Given the description of an element on the screen output the (x, y) to click on. 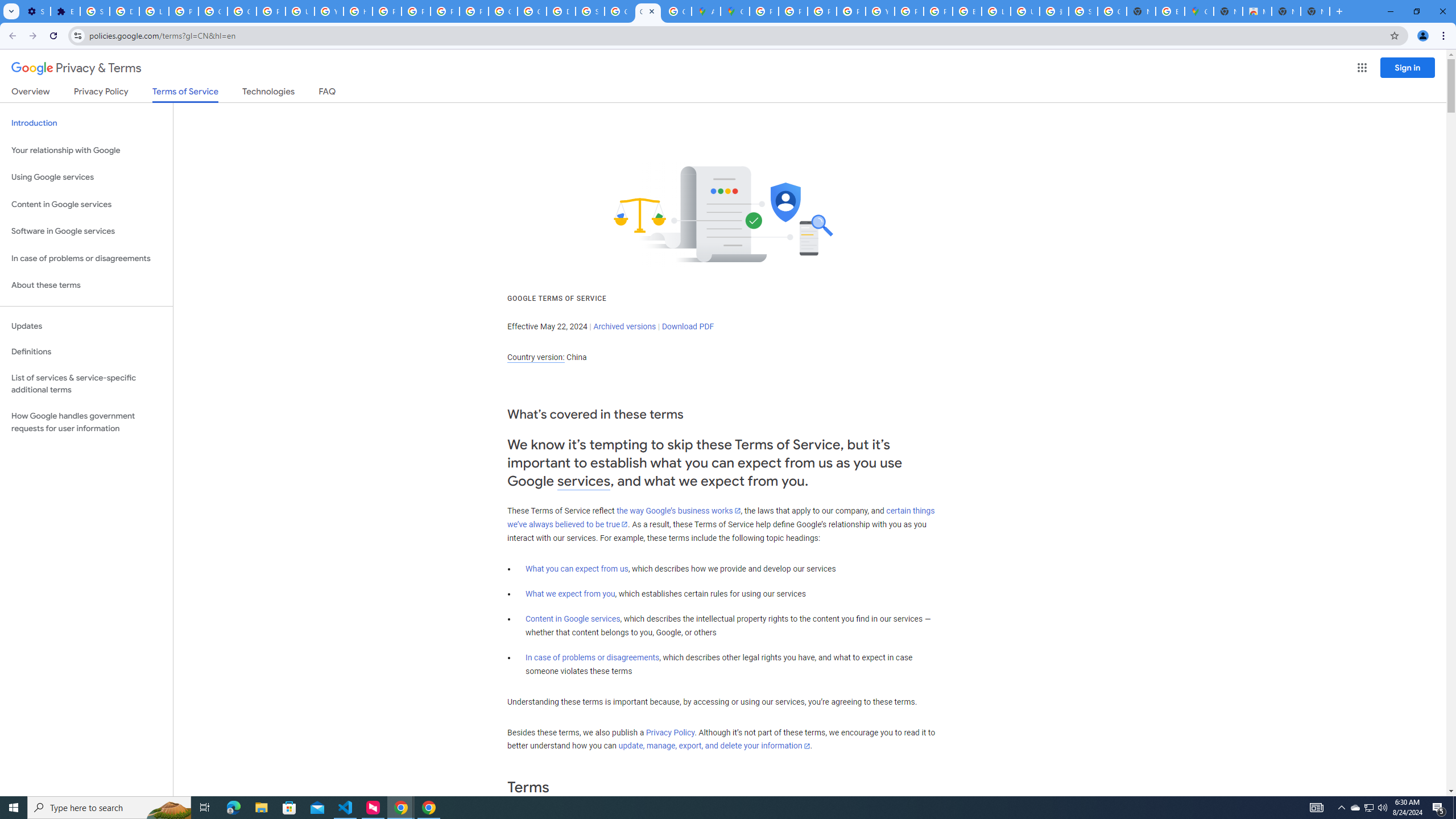
YouTube (879, 11)
YouTube (327, 11)
Privacy Help Center - Policies Help (821, 11)
update, manage, export, and delete your information (714, 746)
Sign in - Google Accounts (590, 11)
New Tab (1315, 11)
